Given the description of an element on the screen output the (x, y) to click on. 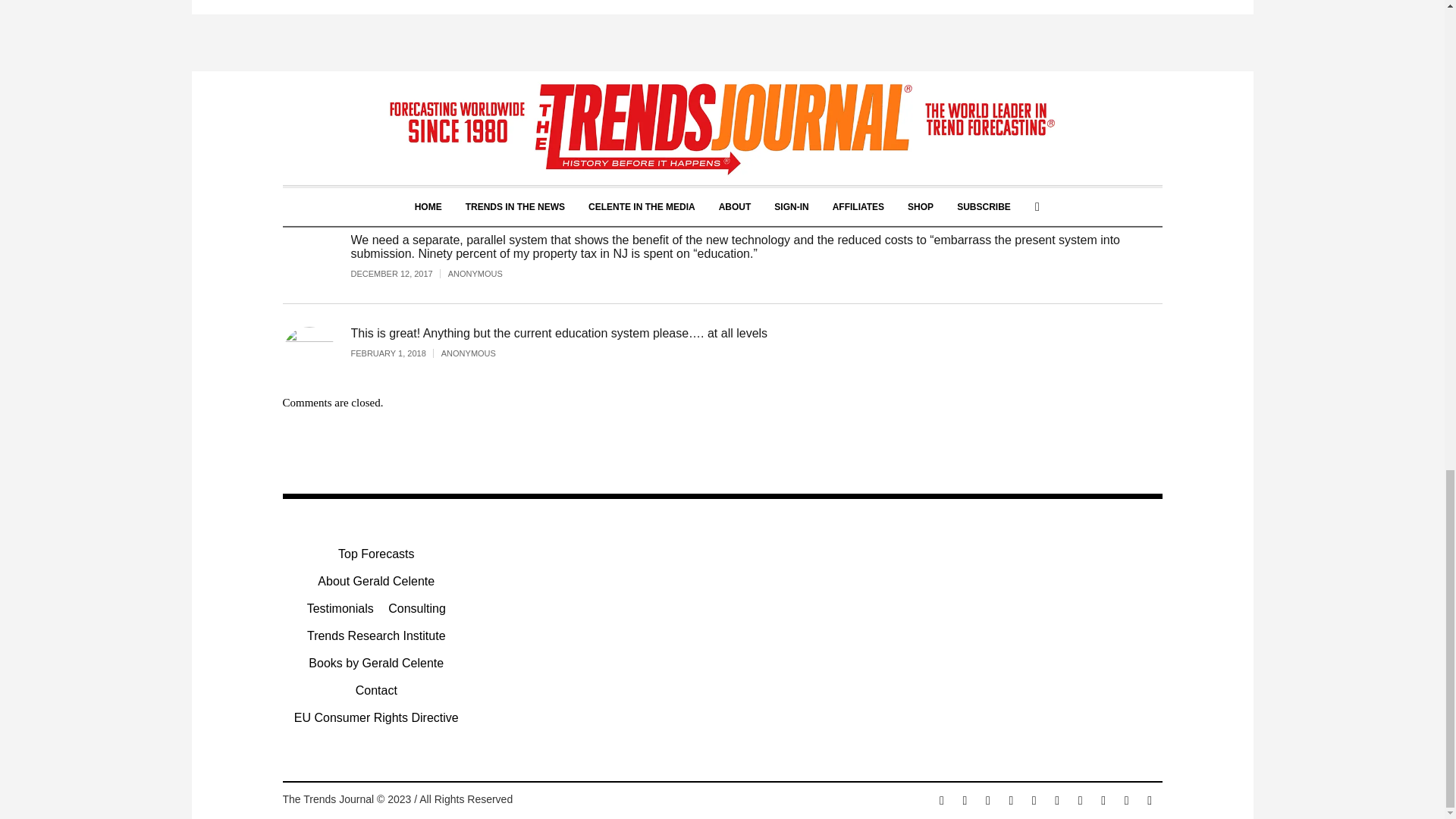
Instagram (964, 800)
Consulting (416, 608)
Top Forecasts (375, 554)
4. BLOCKCHAIN DEMOCRACY (396, 57)
Contact (376, 690)
Testimonials (340, 608)
Twitter (987, 800)
Facebook (941, 800)
December 12, 2017 (398, 273)
TikTok (1103, 800)
LinkedIn (1034, 800)
February 1, 2018 (395, 353)
Trends Research Institute (376, 636)
EU Consumer Rights Directive (376, 718)
Books by Gerald Celente (376, 663)
